Given the description of an element on the screen output the (x, y) to click on. 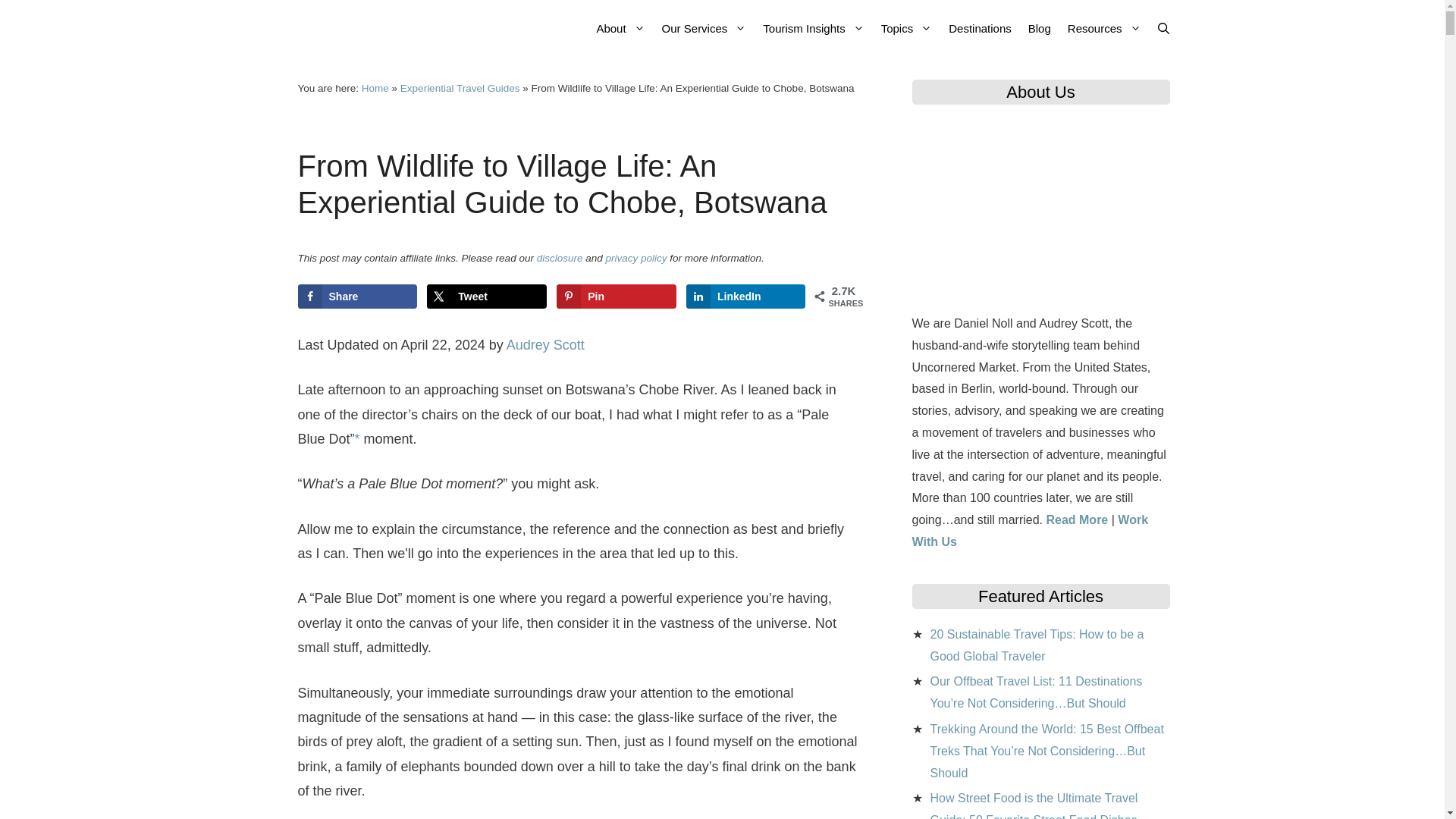
Uncornered Market (379, 28)
Share on X (486, 296)
Share on Facebook (356, 296)
Uncornered Market (382, 28)
Share on LinkedIn (745, 296)
Save to Pinterest (615, 296)
About (620, 28)
